Given the description of an element on the screen output the (x, y) to click on. 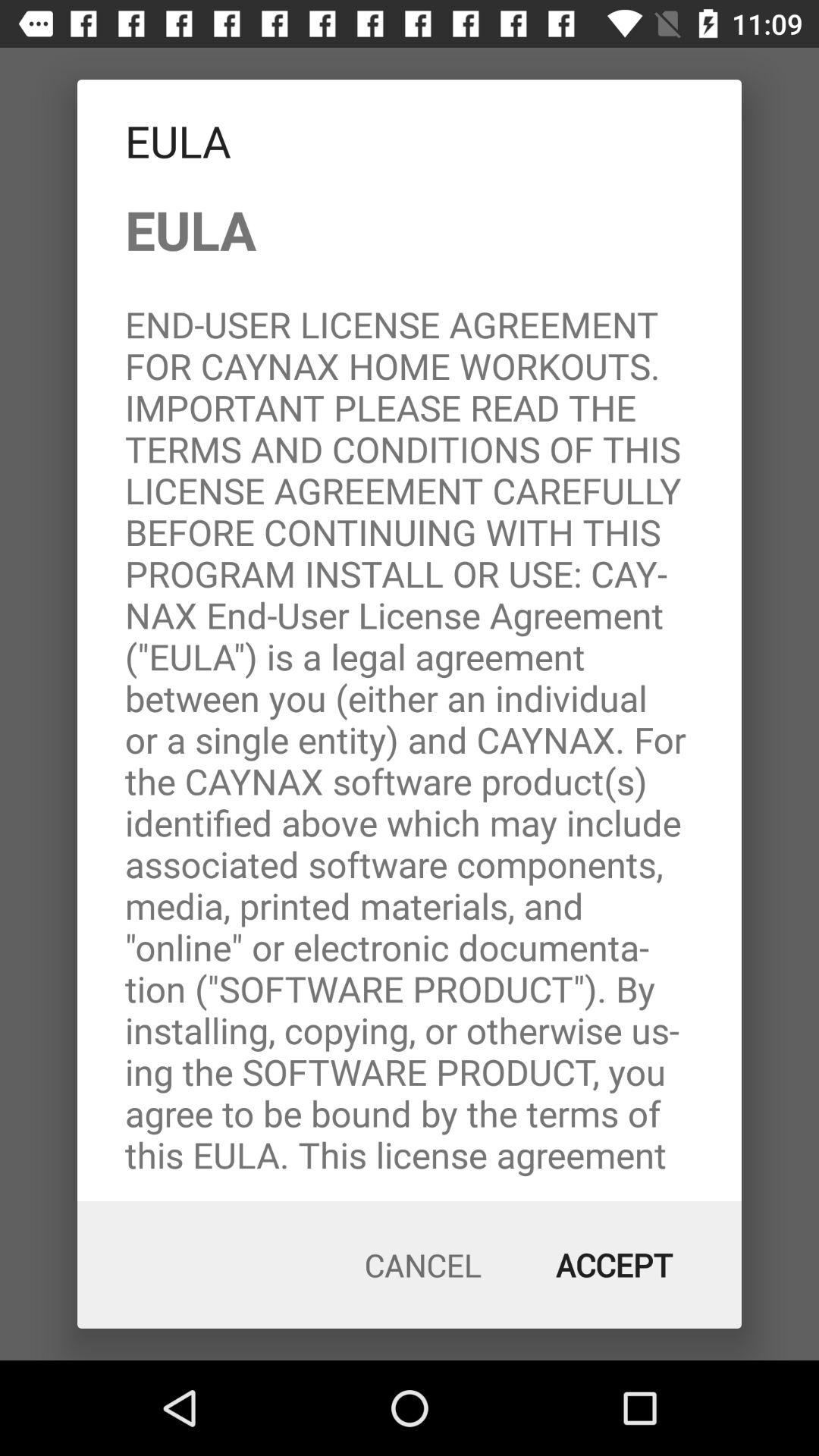
turn on the app below eula end user item (613, 1264)
